Given the description of an element on the screen output the (x, y) to click on. 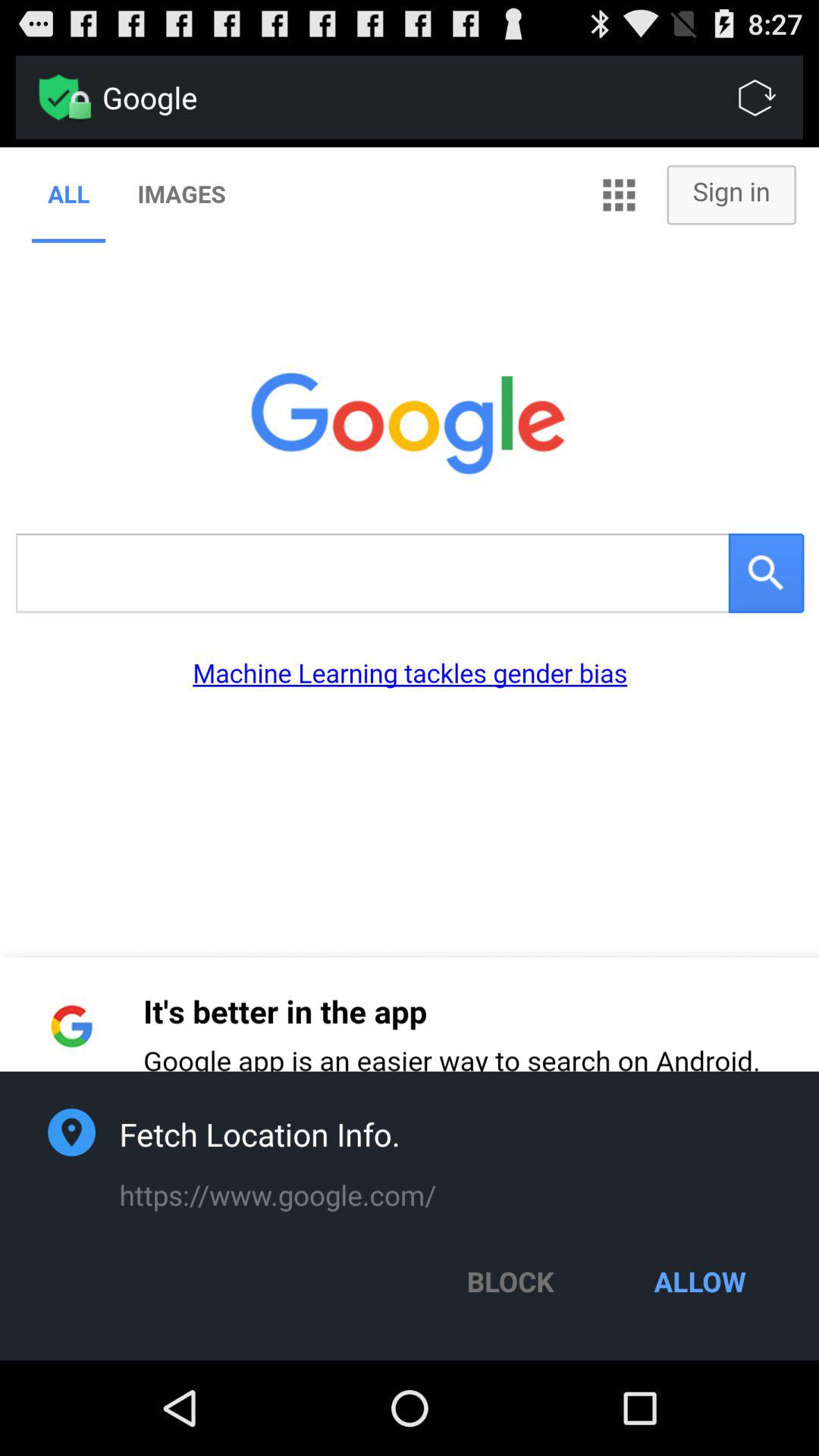
click on the google option (452, 97)
click the allow button (699, 1281)
click on the lock option beside google (79, 106)
select the green icon which is in the black background (59, 96)
